Given the description of an element on the screen output the (x, y) to click on. 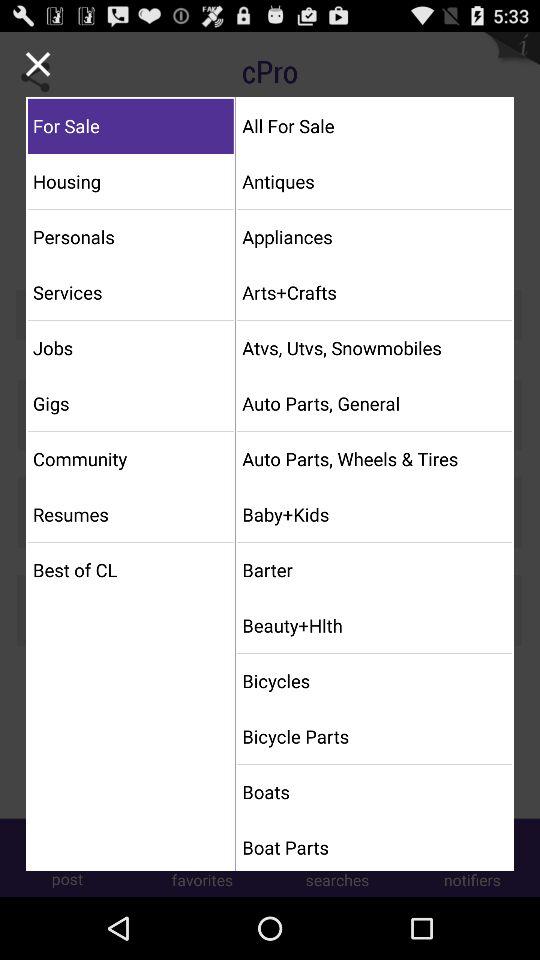
launch item above barter app (374, 514)
